Given the description of an element on the screen output the (x, y) to click on. 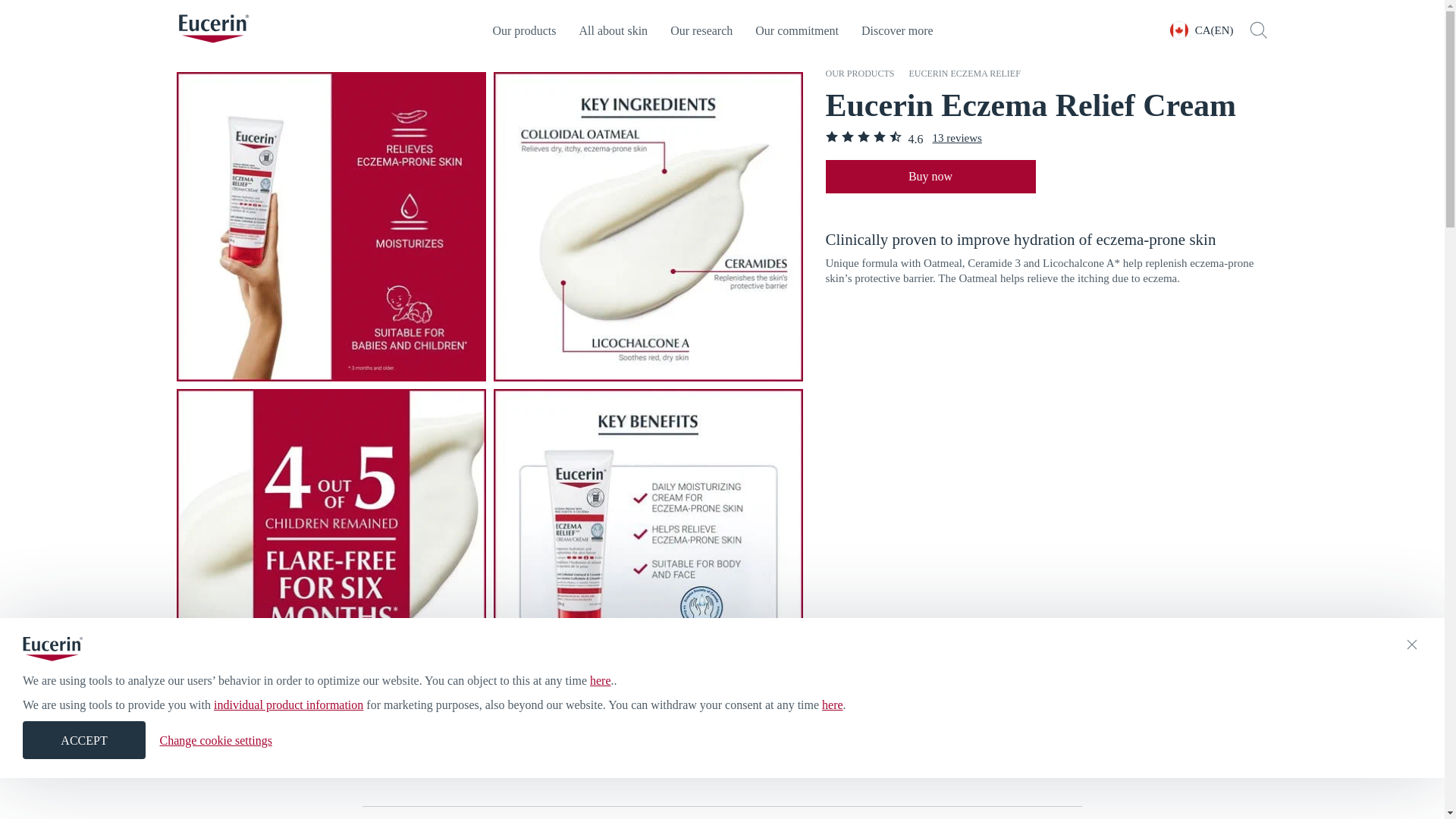
Our products (523, 29)
Eucerin Eczema Relief (964, 72)
All about skin (613, 29)
Our products (859, 72)
